Given the description of an element on the screen output the (x, y) to click on. 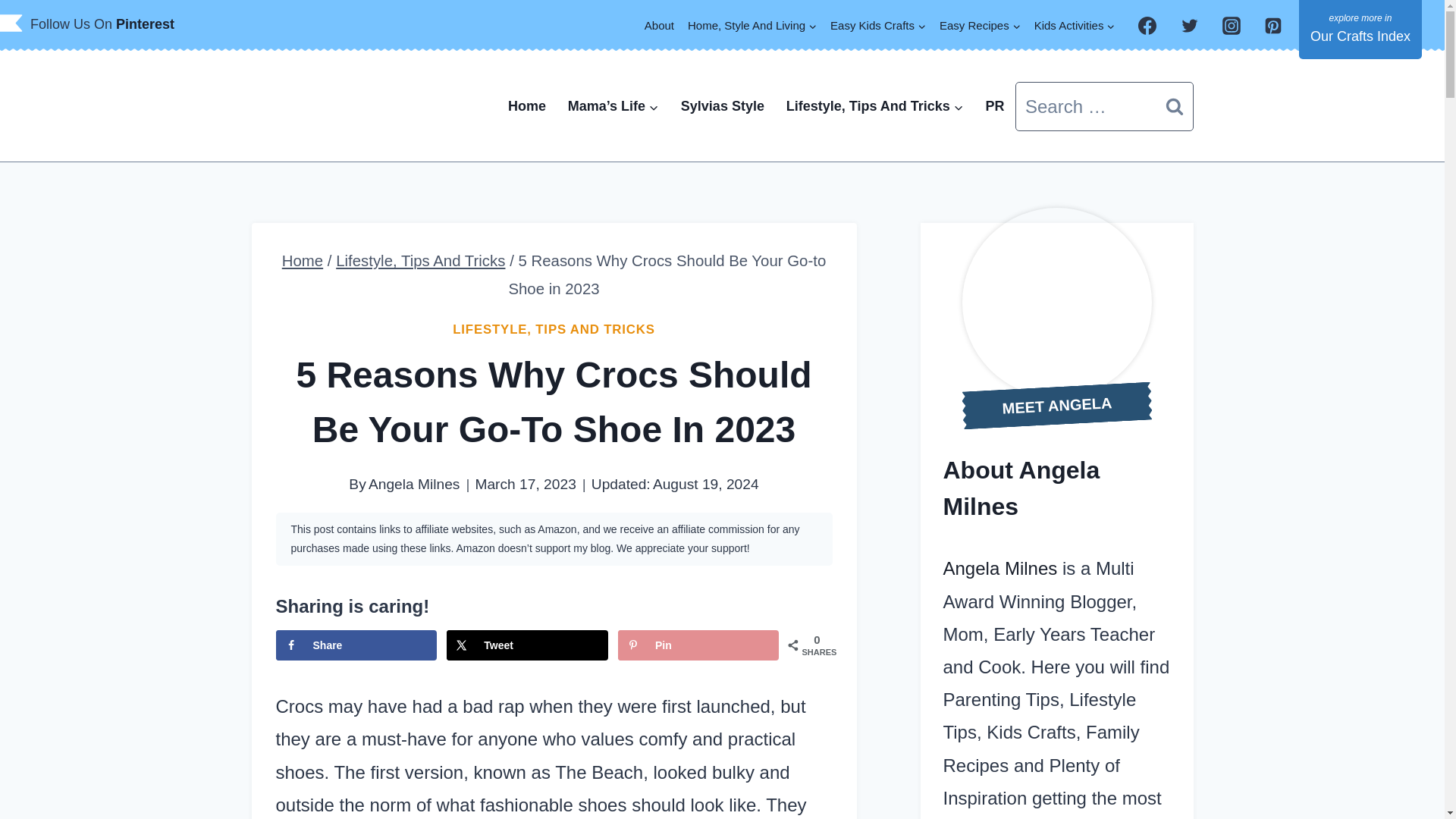
Kids Activities (1074, 25)
Easy Recipes (980, 25)
Share on X (526, 644)
Easy Kids Crafts (878, 25)
Save to Pinterest (697, 644)
About (659, 25)
Share on Facebook (356, 644)
Home, Style And Living (752, 25)
Pinterest (145, 23)
